Given the description of an element on the screen output the (x, y) to click on. 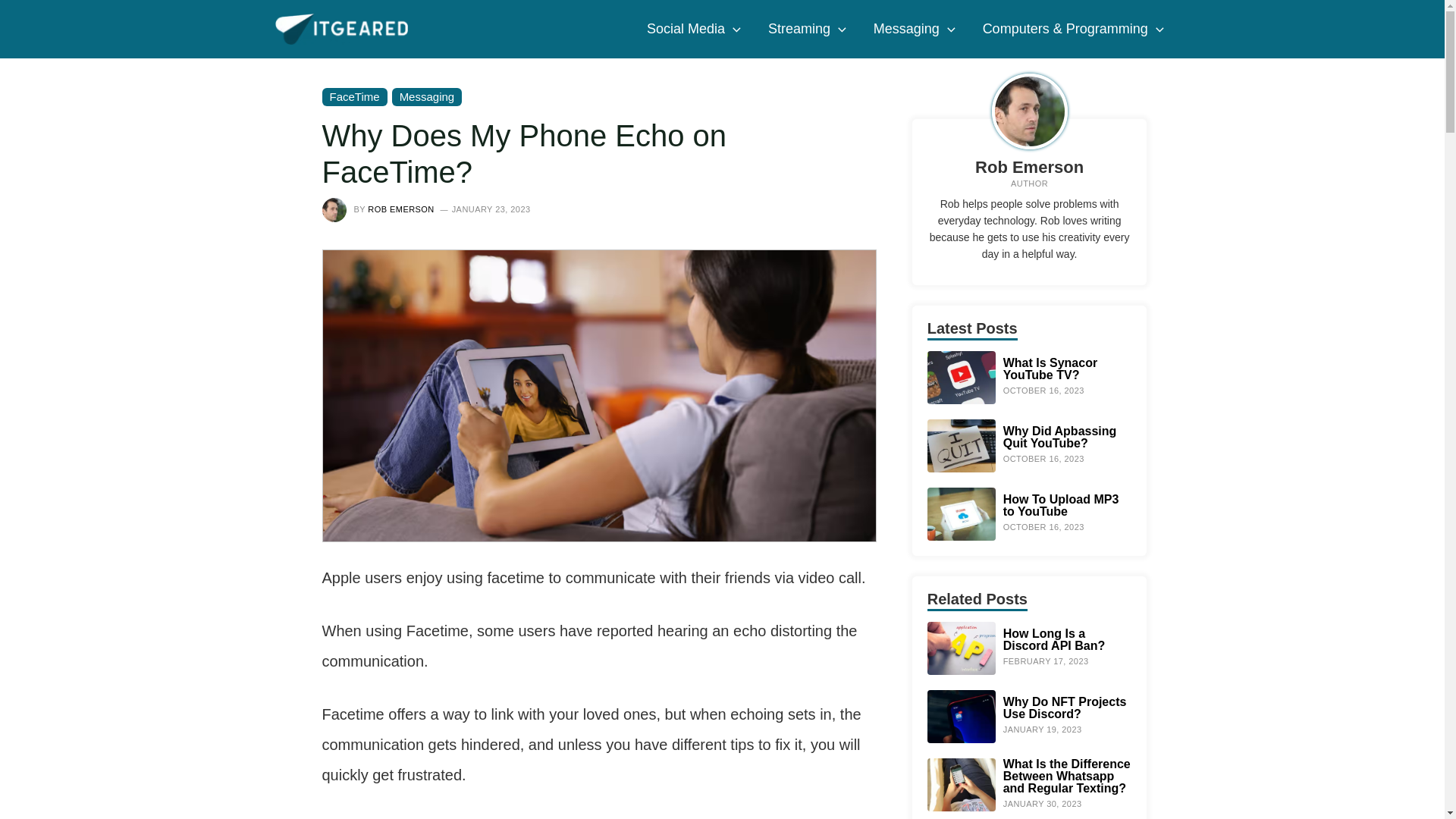
Streaming (807, 28)
Social Media (693, 28)
Messaging (914, 28)
